Given the description of an element on the screen output the (x, y) to click on. 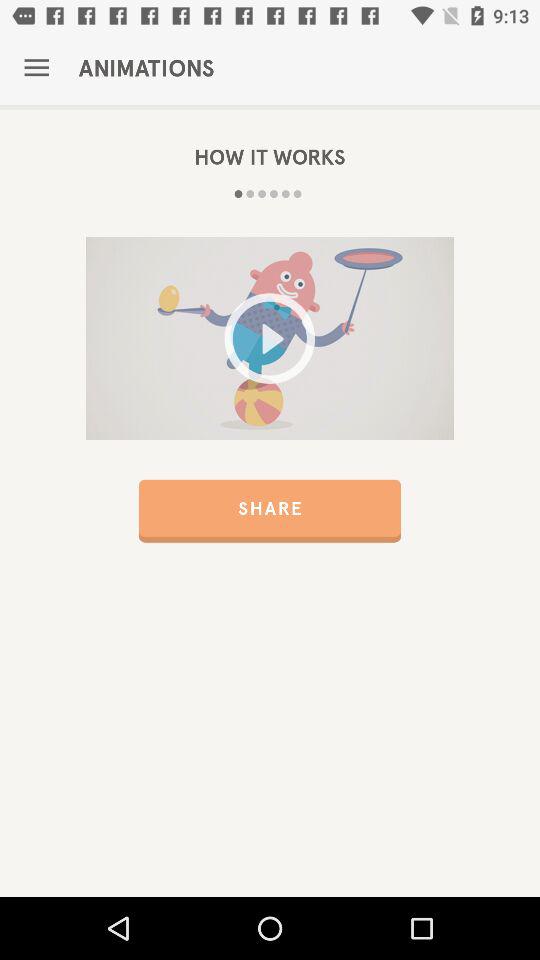
play a video (269, 338)
